Given the description of an element on the screen output the (x, y) to click on. 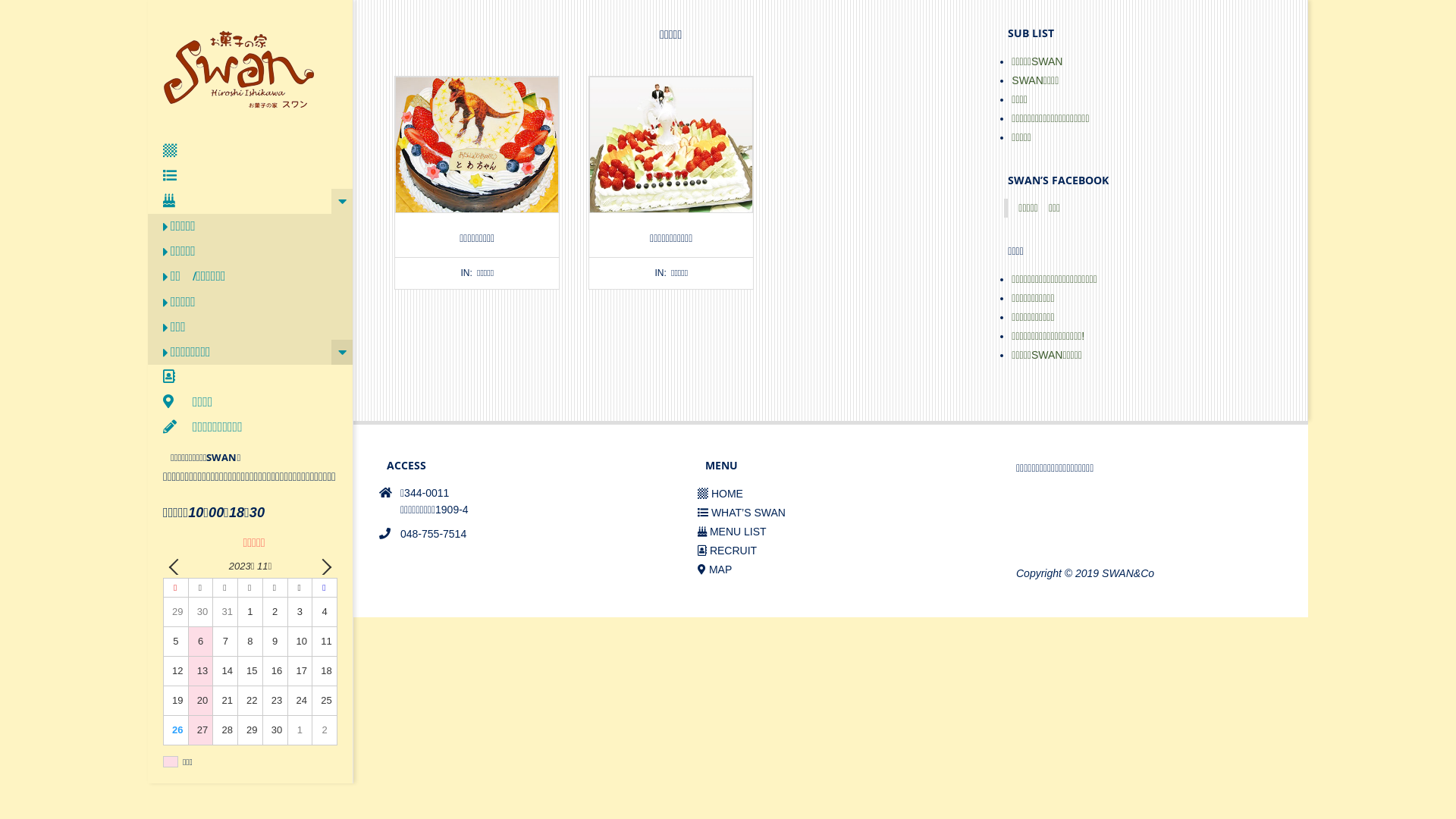
MAP Element type: text (714, 569)
048-755-7514 Element type: text (433, 533)
MENU LIST Element type: text (731, 531)
HOME Element type: text (720, 493)
PREV Element type: text (177, 565)
NEXT Element type: text (322, 565)
RECRUIT Element type: text (726, 550)
